Given the description of an element on the screen output the (x, y) to click on. 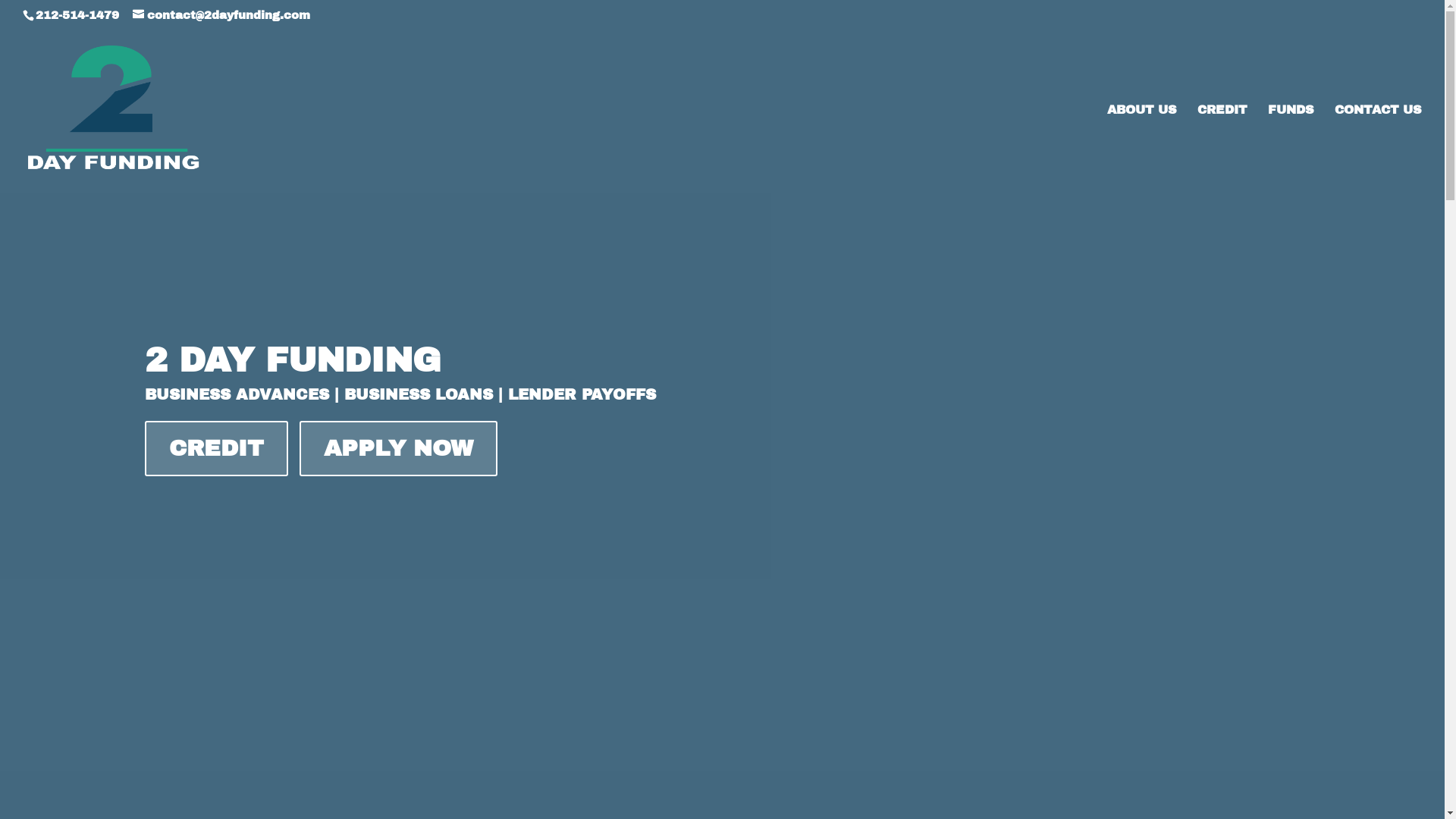
CREDIT Element type: text (1222, 150)
FUNDS Element type: text (1290, 150)
APPLY NOW Element type: text (397, 448)
CONTACT US Element type: text (1377, 150)
contact@2dayfunding.com Element type: text (221, 15)
CREDIT Element type: text (215, 448)
ABOUT US Element type: text (1141, 150)
